Given the description of an element on the screen output the (x, y) to click on. 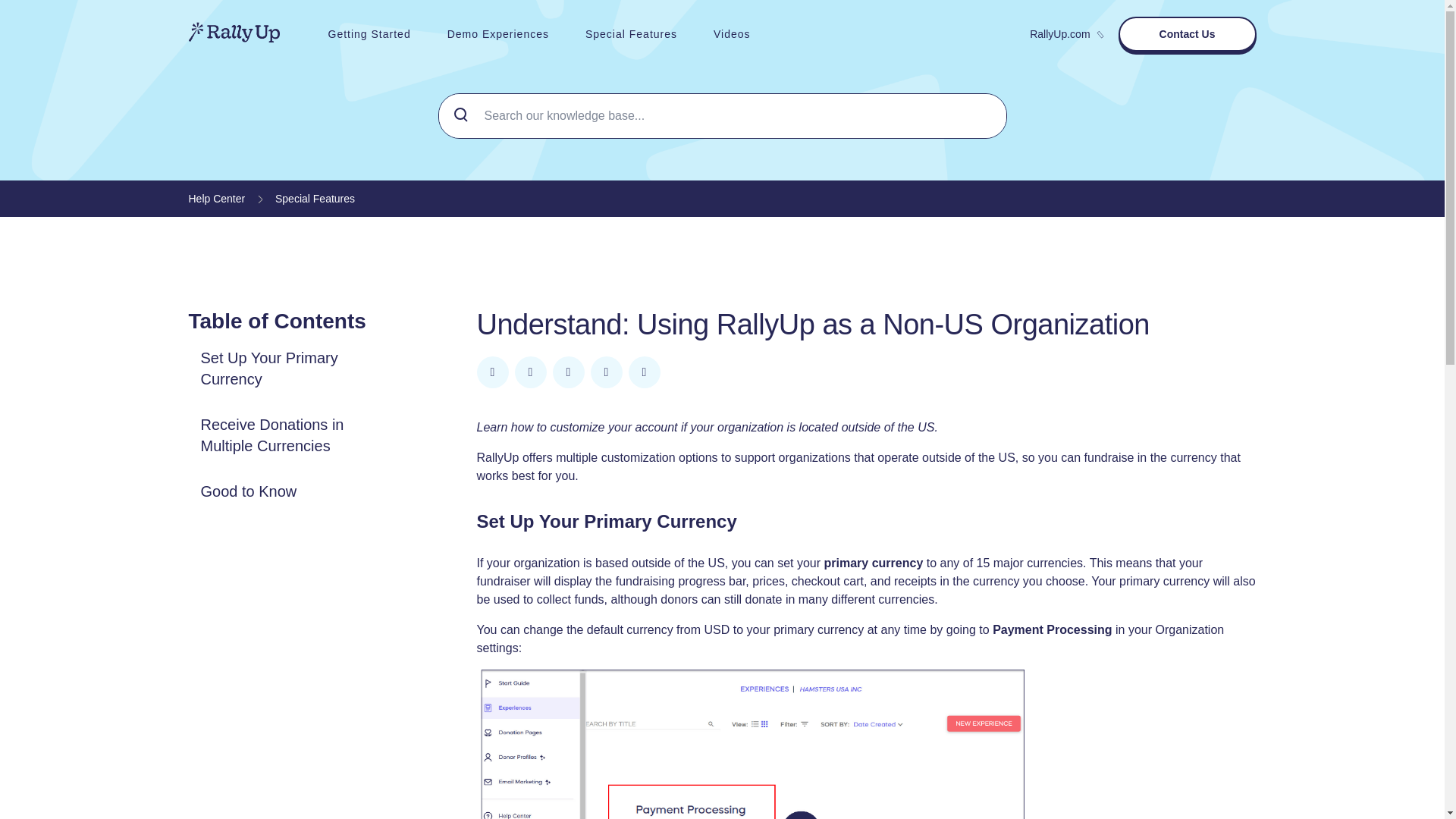
Demo Experiences (498, 33)
Help Center (215, 198)
Good to Know (247, 491)
Special Features (315, 198)
Special Features (631, 33)
Receive Donations in Multiple Currencies (293, 435)
Contact Us (1187, 33)
Set Up Your Primary Currency (293, 368)
Videos (731, 33)
Getting Started (368, 33)
RallyUp.com (1065, 33)
